Given the description of an element on the screen output the (x, y) to click on. 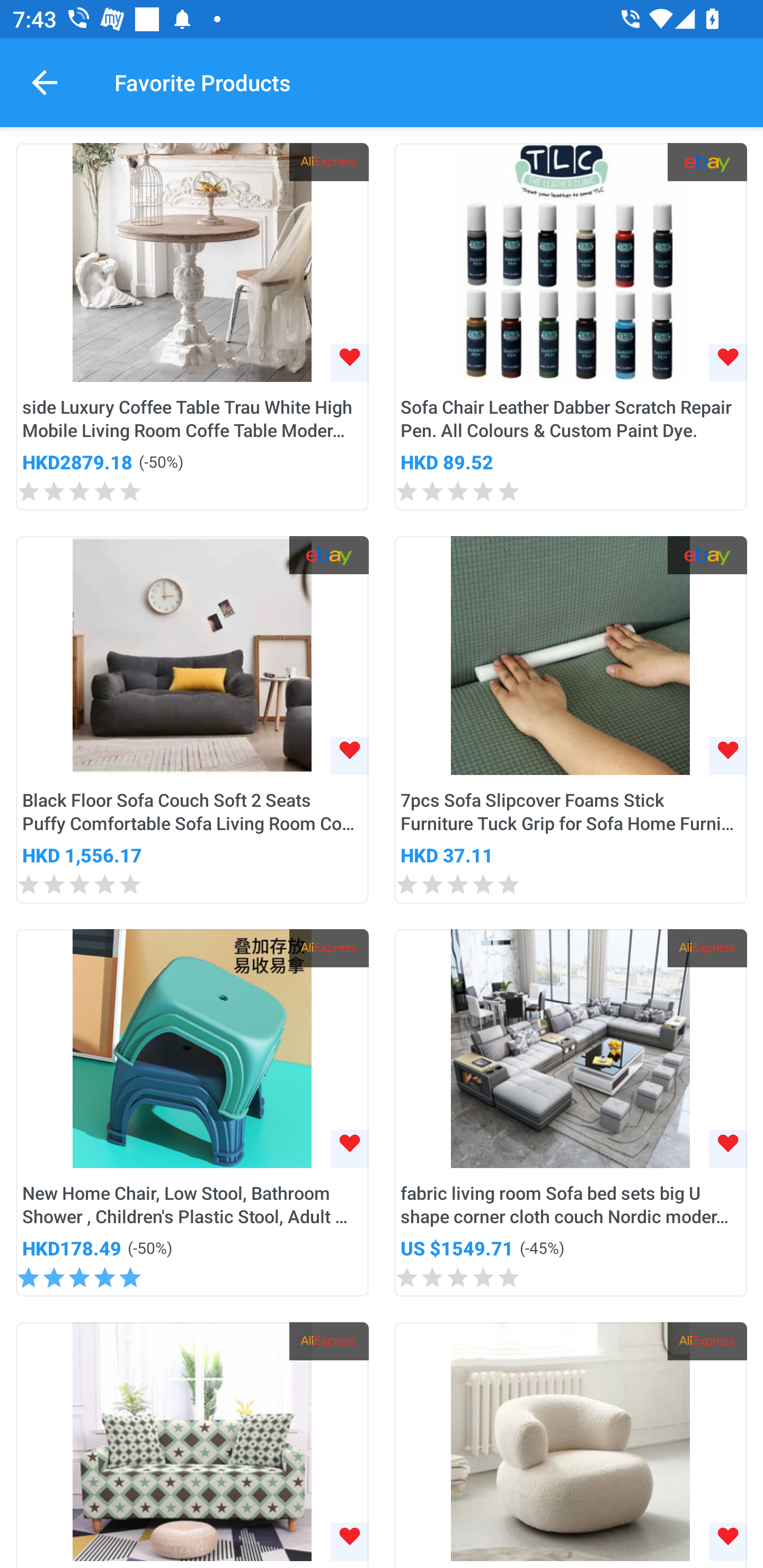
Navigate up (44, 82)
